Given the description of an element on the screen output the (x, y) to click on. 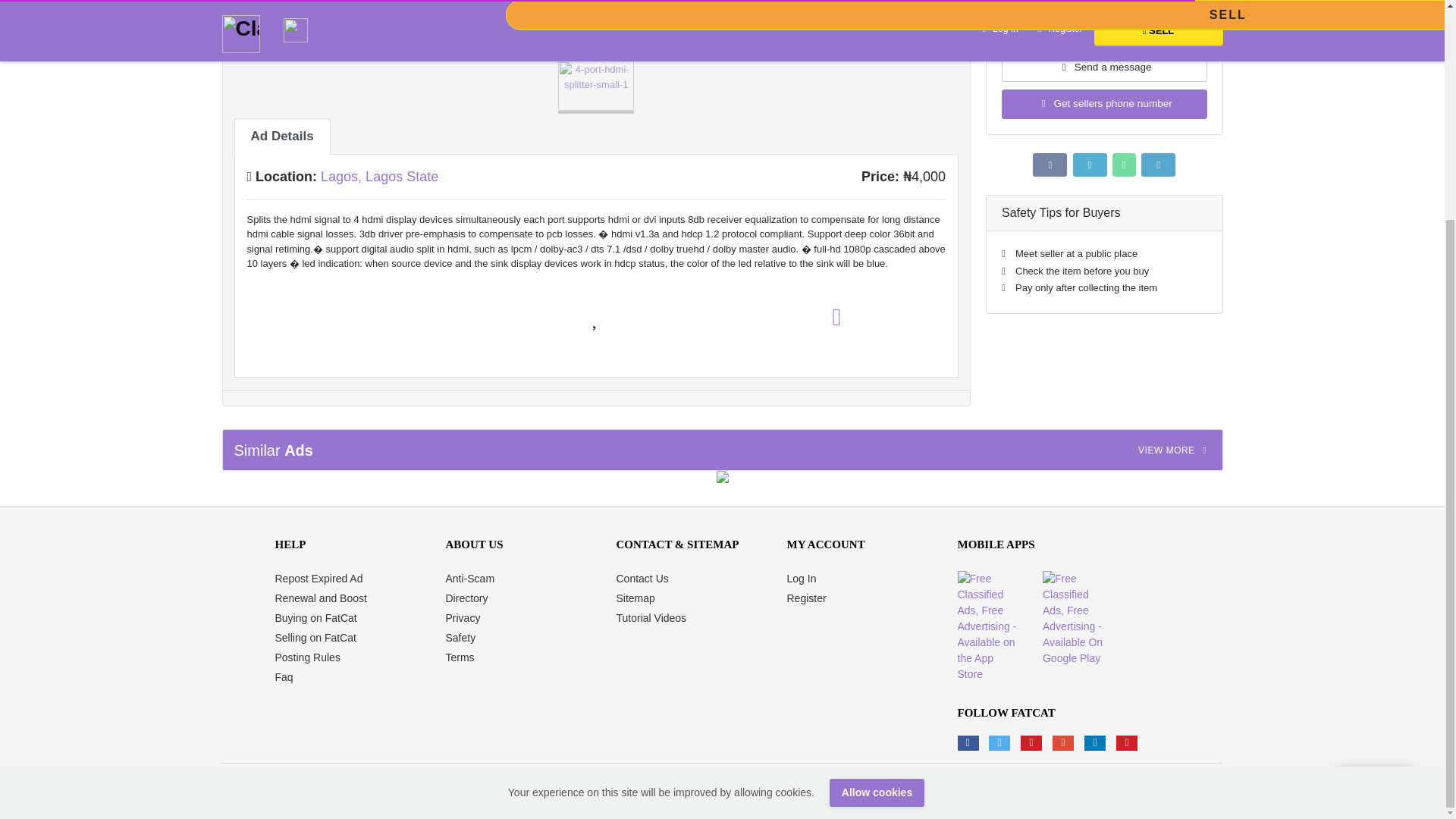
VIEW MORE (1174, 450)
Send a message (1104, 67)
Show Chat (1374, 491)
Lagos, Lagos State (379, 176)
Get sellers phone number (1104, 103)
Ad Details (281, 135)
